Given the description of an element on the screen output the (x, y) to click on. 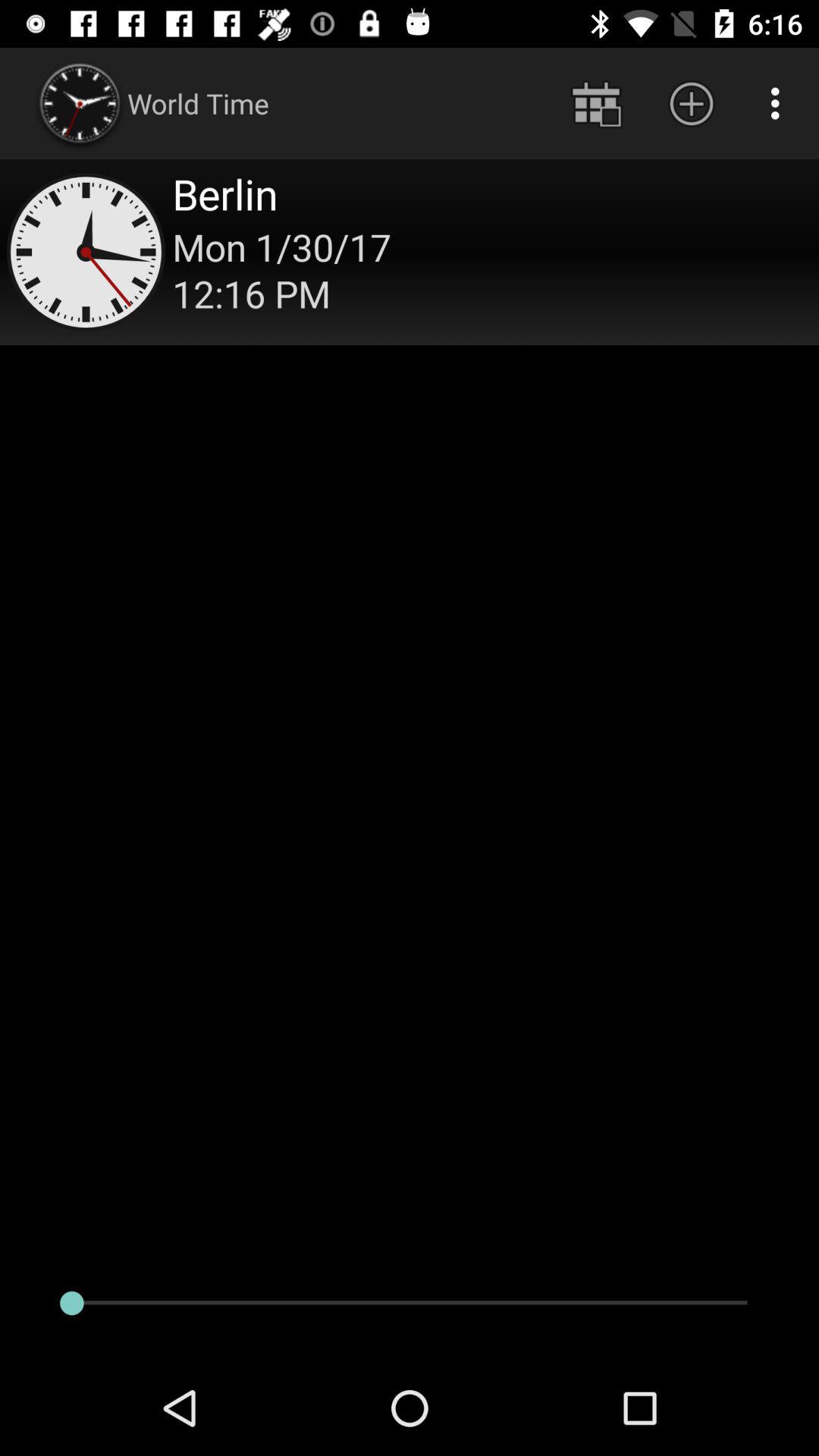
launch item next to the world time (595, 103)
